Given the description of an element on the screen output the (x, y) to click on. 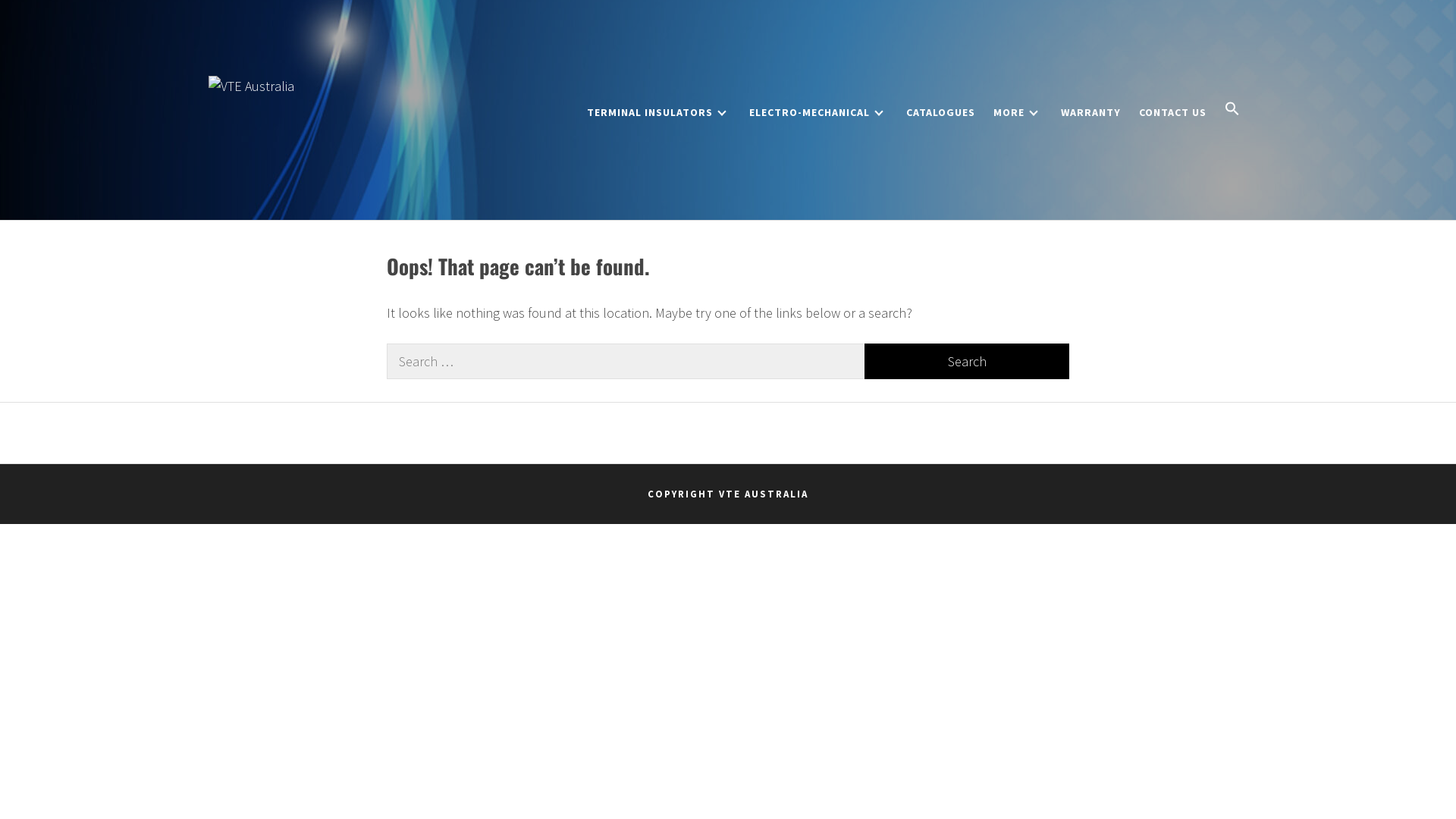
Search Element type: text (966, 360)
CATALOGUES Element type: text (940, 112)
MORE Element type: text (1017, 112)
VTE AUSTRALIA Element type: text (329, 116)
TERMINAL INSULATORS Element type: text (658, 112)
CONTACT US Element type: text (1172, 112)
Search Element type: text (803, 409)
WARRANTY Element type: text (1090, 112)
ELECTRO-MECHANICAL Element type: text (818, 112)
